Given the description of an element on the screen output the (x, y) to click on. 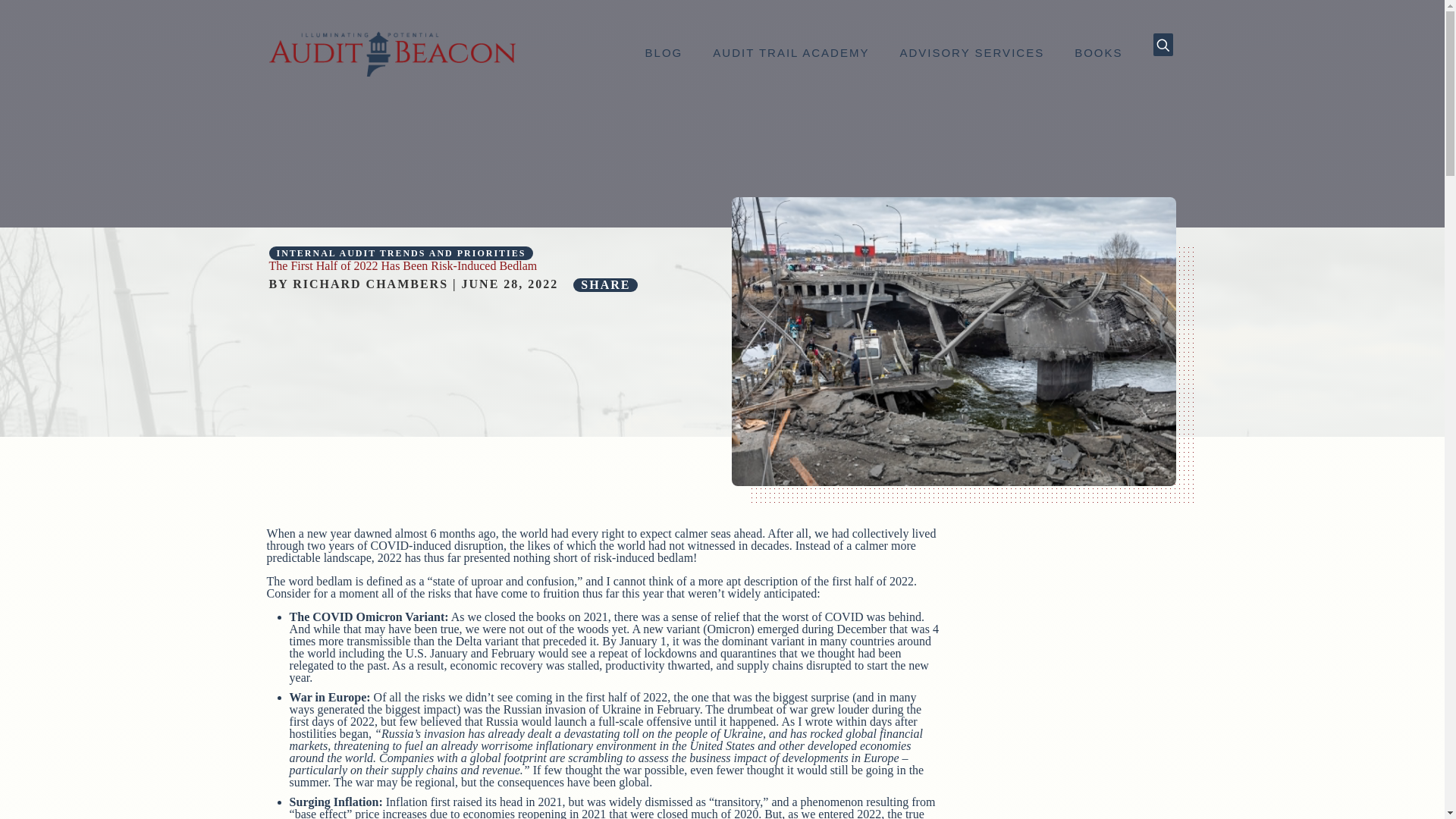
I wrote (814, 721)
INTERNAL AUDIT TRENDS AND PRIORITIES (400, 253)
AUDIT TRAIL ACADEMY (790, 52)
BLOG (664, 52)
defined (384, 581)
BOOKS (1098, 52)
Audit Beacon (391, 52)
ADVISORY SERVICES (971, 52)
